Given the description of an element on the screen output the (x, y) to click on. 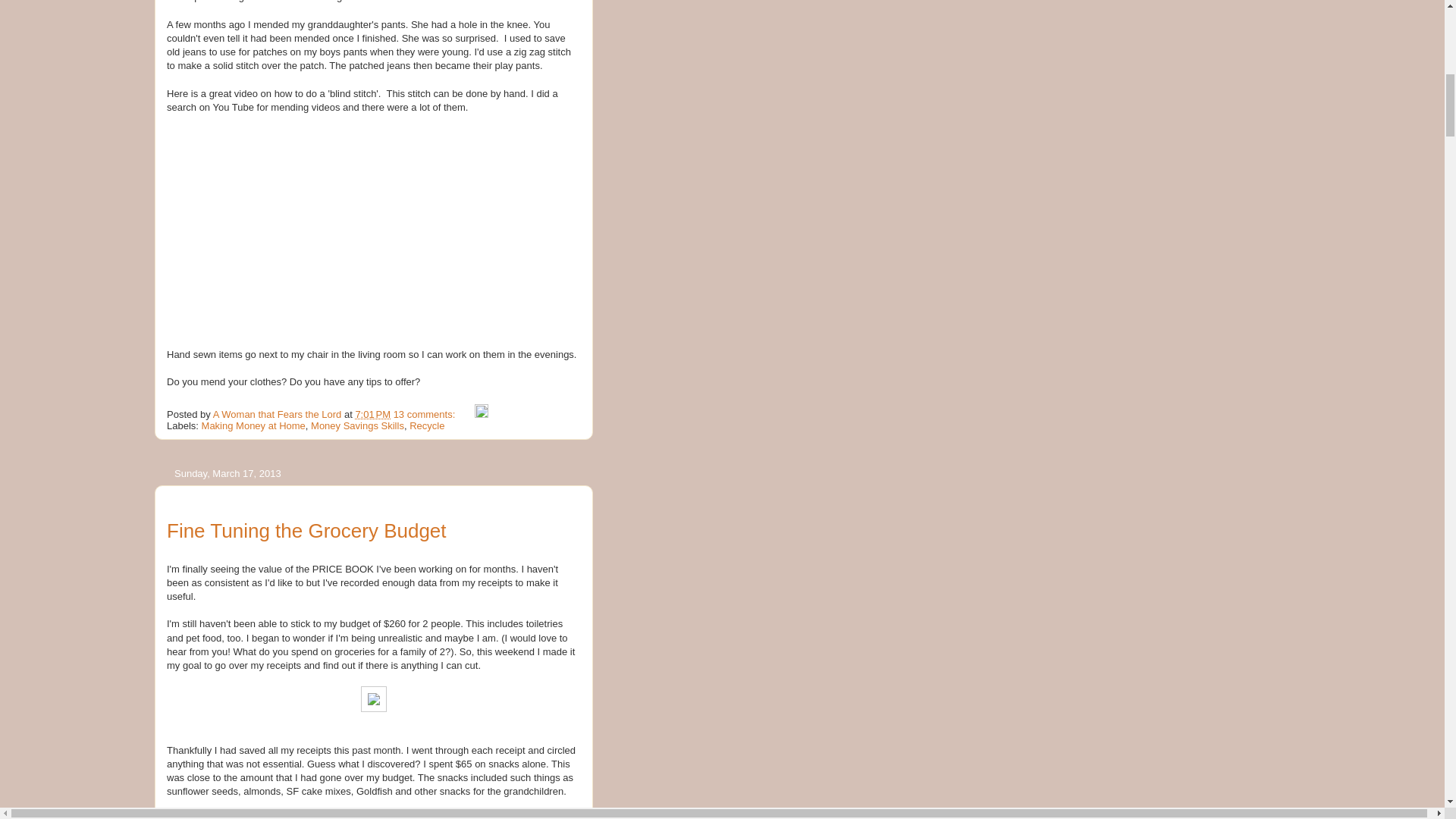
Money Savings Skills (357, 425)
13 comments: (425, 414)
Recycle (426, 425)
Email Post (466, 414)
permanent link (372, 414)
A Woman that Fears the Lord (277, 414)
author profile (277, 414)
Making Money at Home (253, 425)
Fine Tuning the Grocery Budget (306, 530)
Edit Post (480, 414)
